Given the description of an element on the screen output the (x, y) to click on. 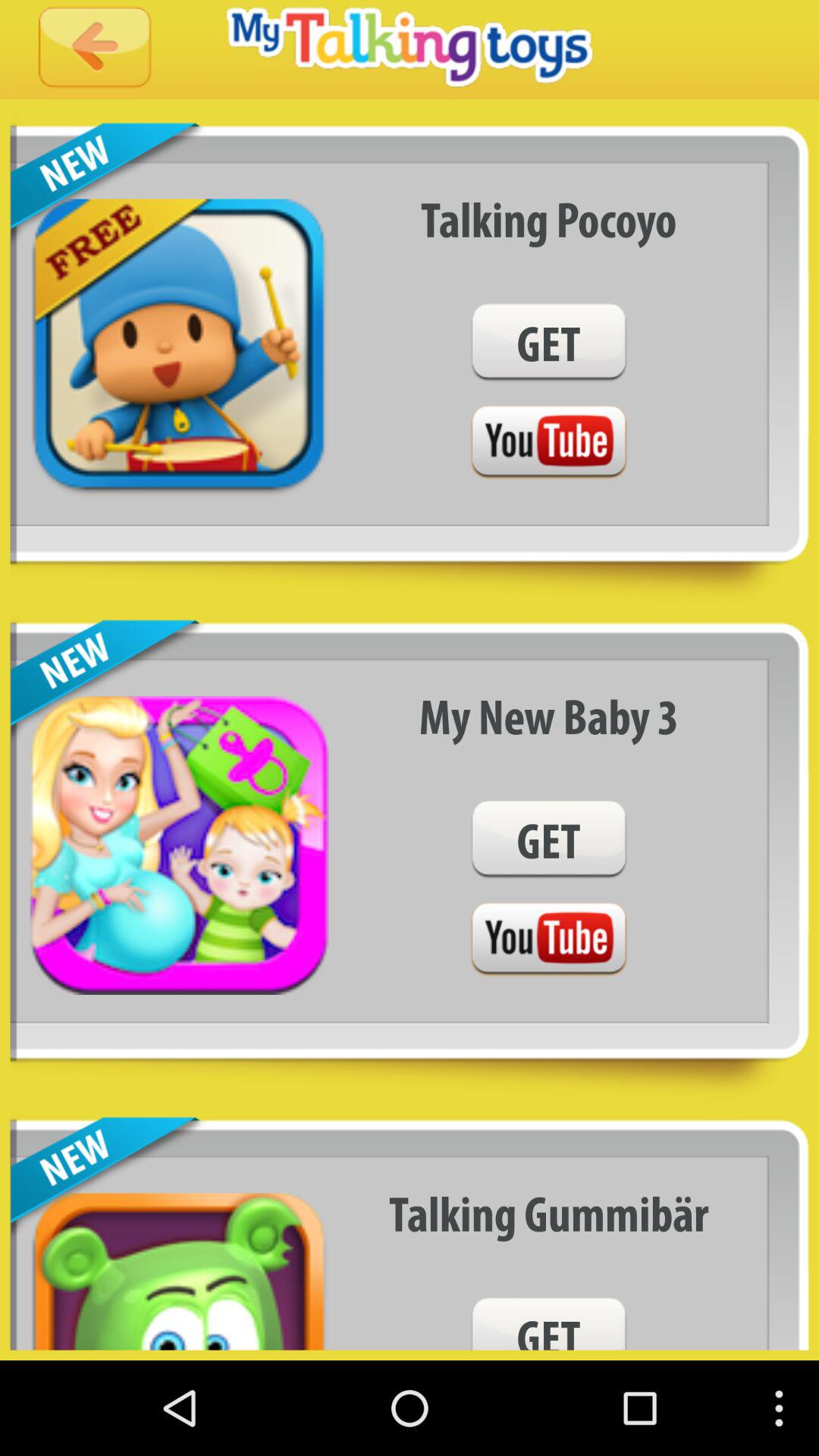
scroll until the my new baby (548, 715)
